Given the description of an element on the screen output the (x, y) to click on. 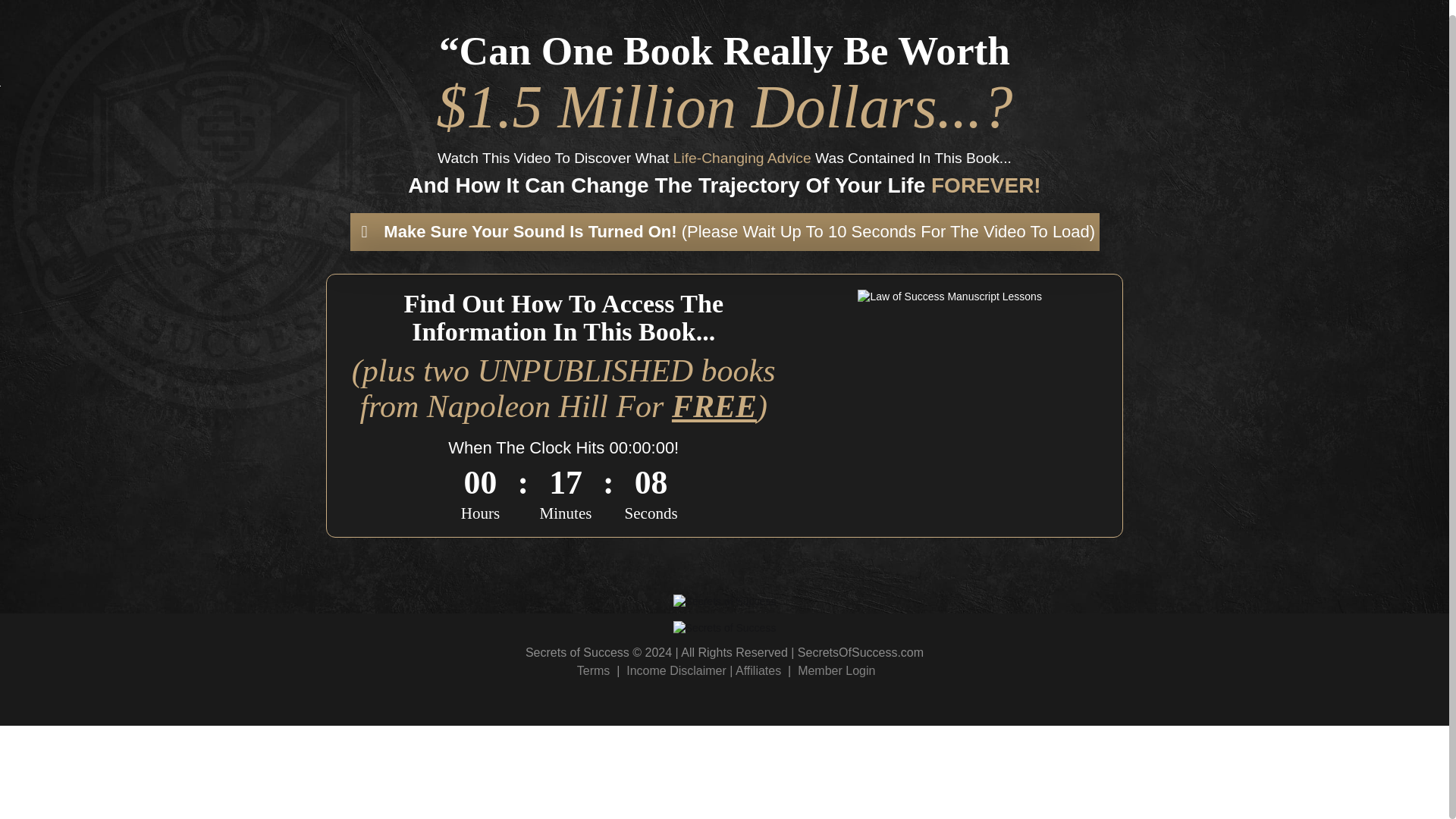
Affiliates (757, 670)
Member Login (836, 670)
Terms (593, 670)
